Given the description of an element on the screen output the (x, y) to click on. 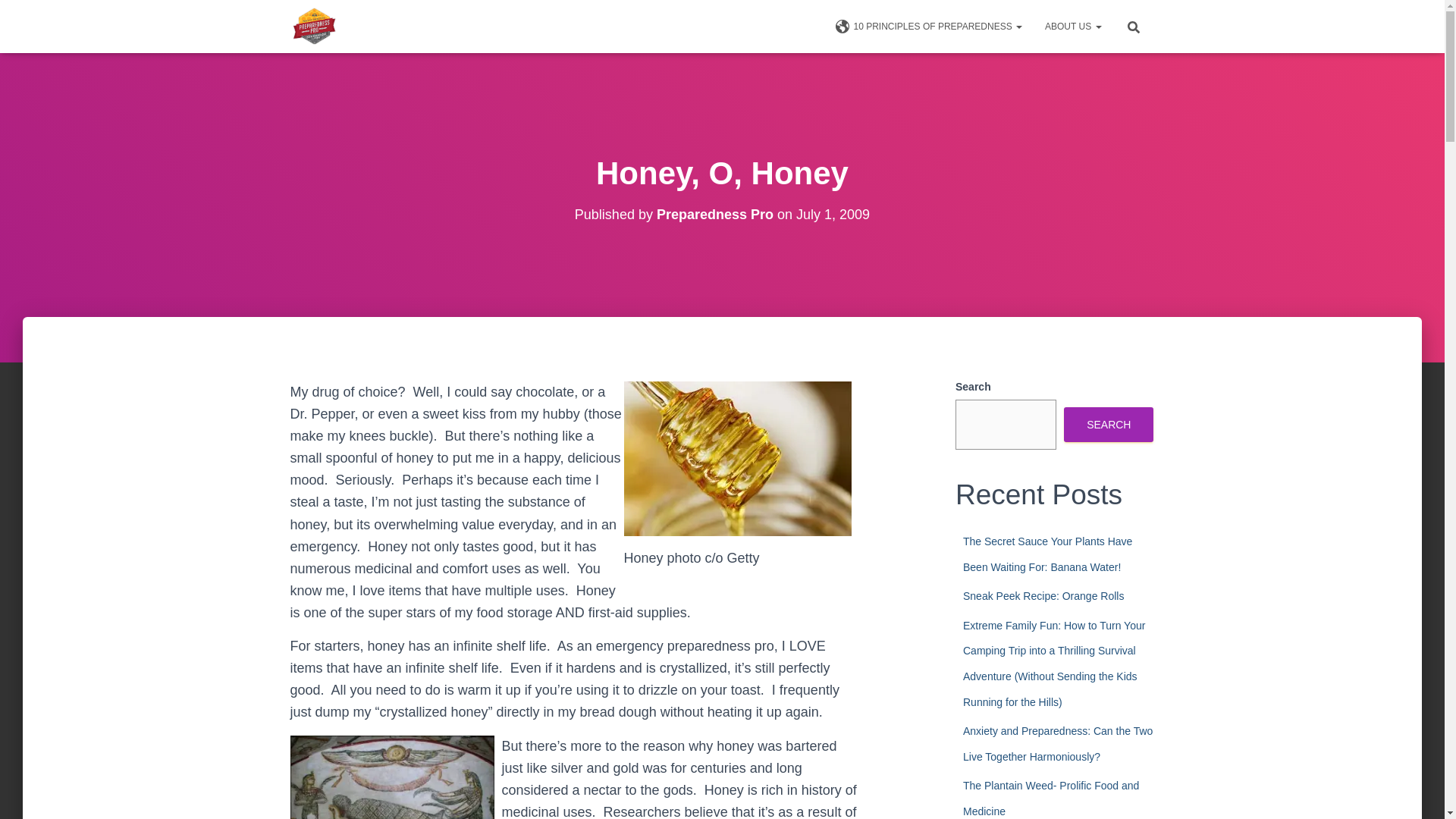
Search (16, 16)
10 PRINCIPLES OF PREPAREDNESS (928, 26)
Preparedness Pro (314, 26)
About Us (1072, 26)
Preparedness Pro (714, 214)
10 Principles of Preparedness (928, 26)
ABOUT US (1072, 26)
